Given the description of an element on the screen output the (x, y) to click on. 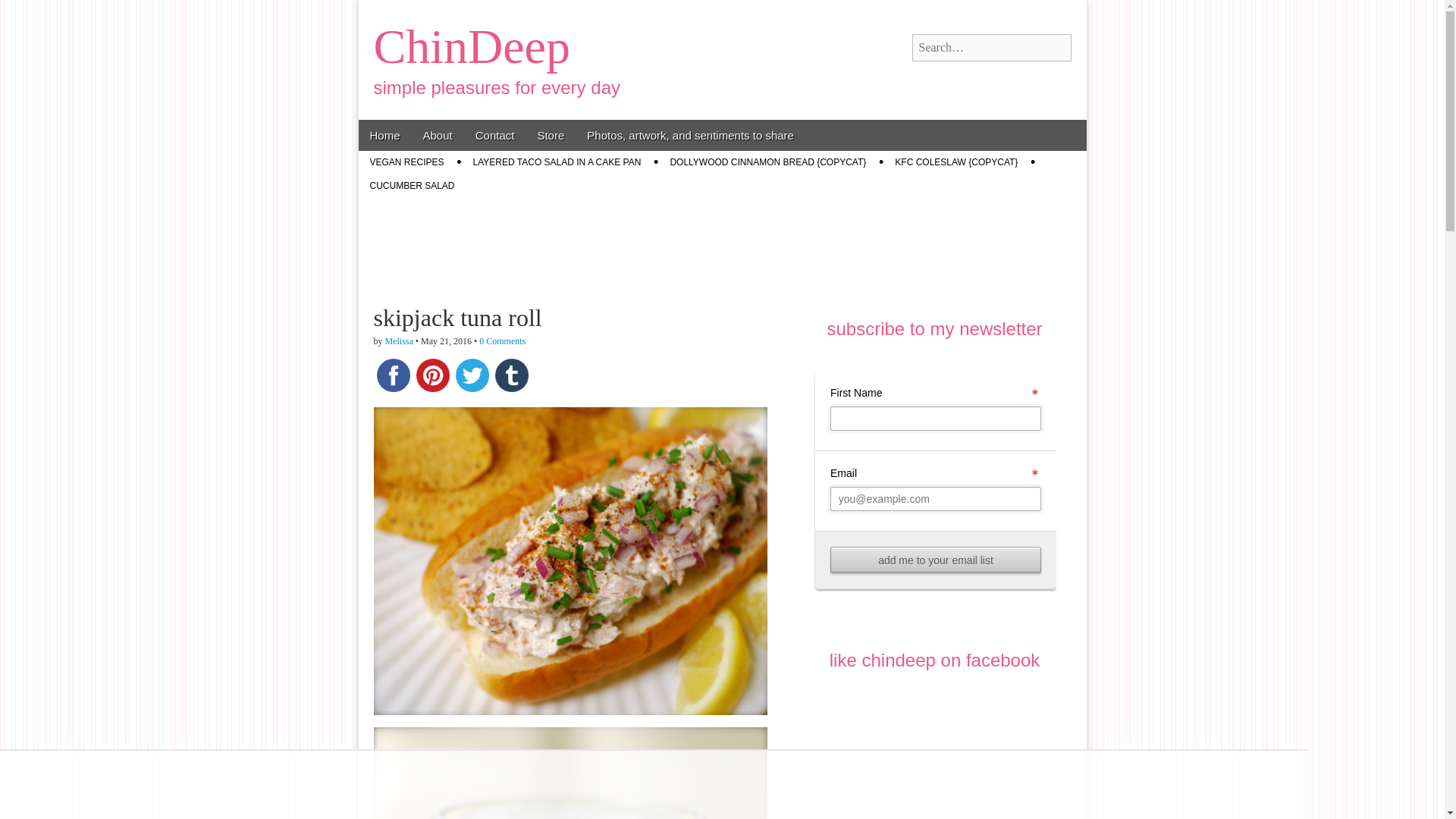
Skip to content (395, 128)
Pinterest (431, 374)
0 Comments (502, 340)
ChinDeep (471, 46)
CUCUMBER SALAD (411, 185)
LAYERED TACO SALAD IN A CAKE PAN (556, 161)
VEGAN RECIPES (406, 161)
Twitter (471, 374)
Skip to content (395, 128)
Home (384, 134)
Melissa (399, 340)
Contact (494, 134)
About (438, 134)
